Given the description of an element on the screen output the (x, y) to click on. 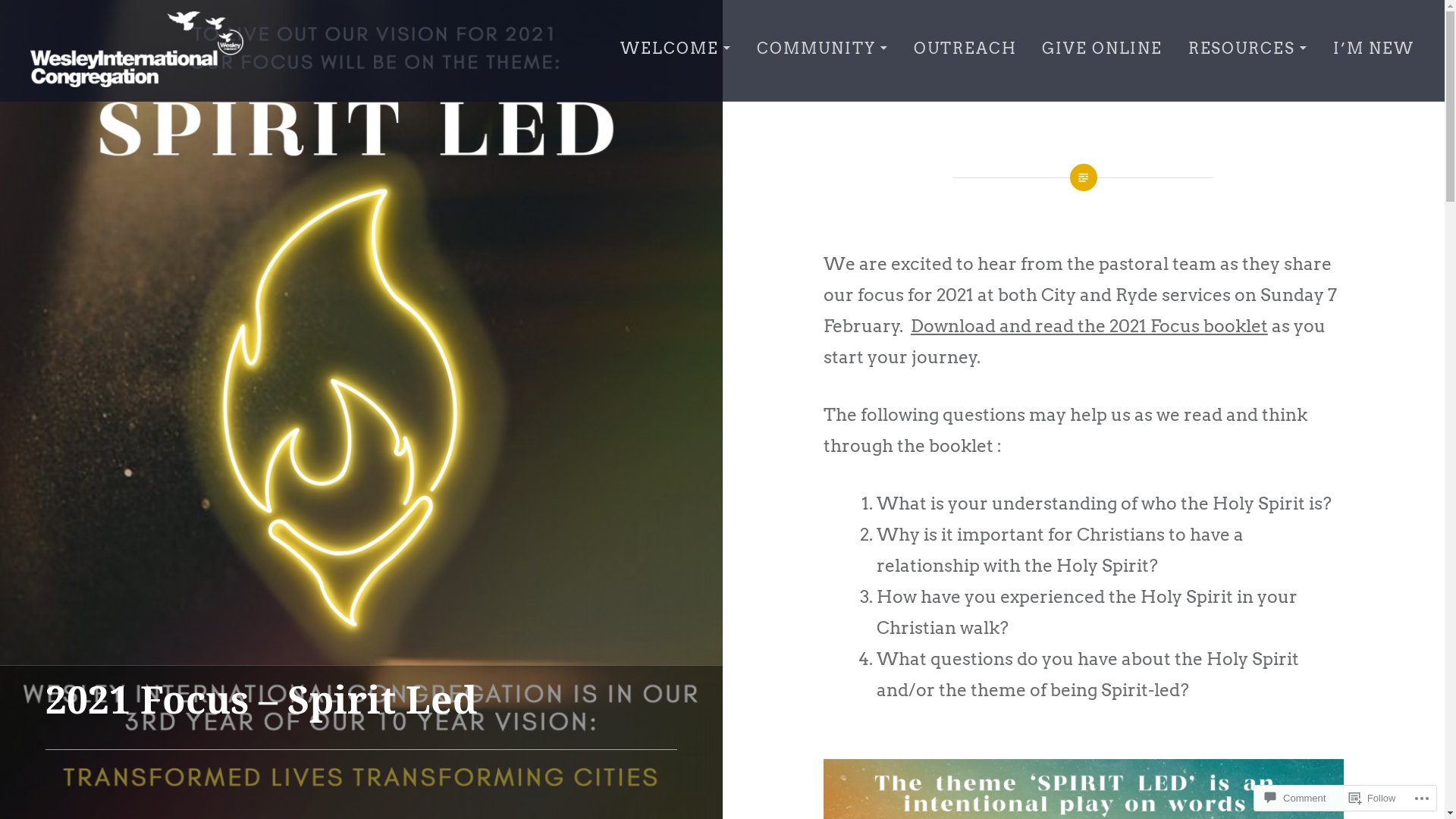
OUTREACH Element type: text (964, 49)
Comment Element type: text (1294, 797)
COMMUNITY Element type: text (822, 49)
UNCATEGORIZED Element type: text (122, 669)
GIVE ONLINE Element type: text (1101, 49)
WELCOME Element type: text (675, 49)
Follow Element type: text (1372, 797)
Search Element type: text (144, 25)
Download and read the 2021 Focus booklet Element type: text (1088, 325)
Wesley International Congregation Element type: text (231, 103)
RESOURCES Element type: text (1248, 49)
